Given the description of an element on the screen output the (x, y) to click on. 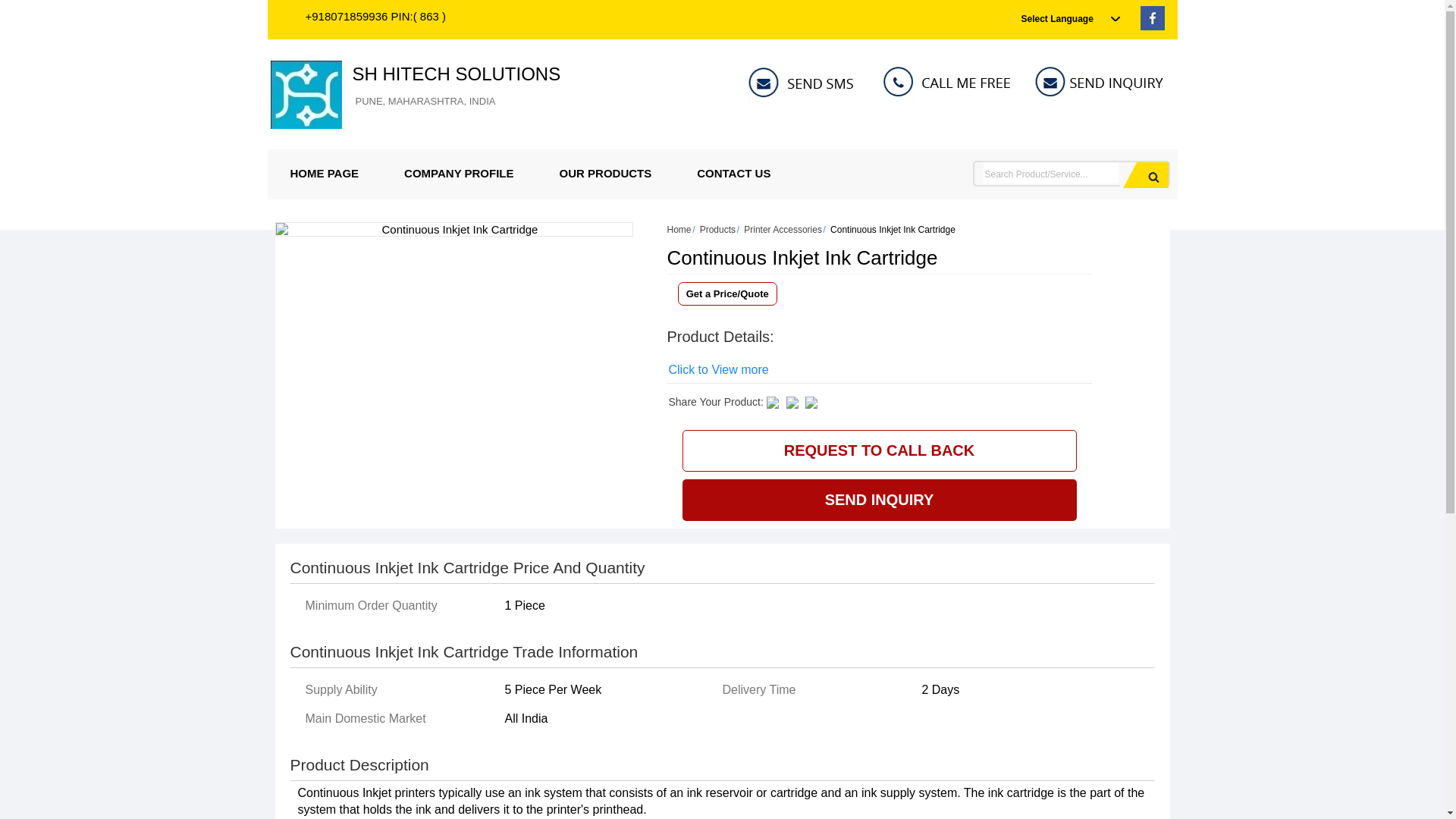
COMPANY PROFILE (458, 173)
Facebook (1152, 25)
OUR PRODUCTS (606, 173)
HOME PAGE (323, 173)
submit (1143, 175)
submit (1143, 175)
Select Language (456, 85)
